Given the description of an element on the screen output the (x, y) to click on. 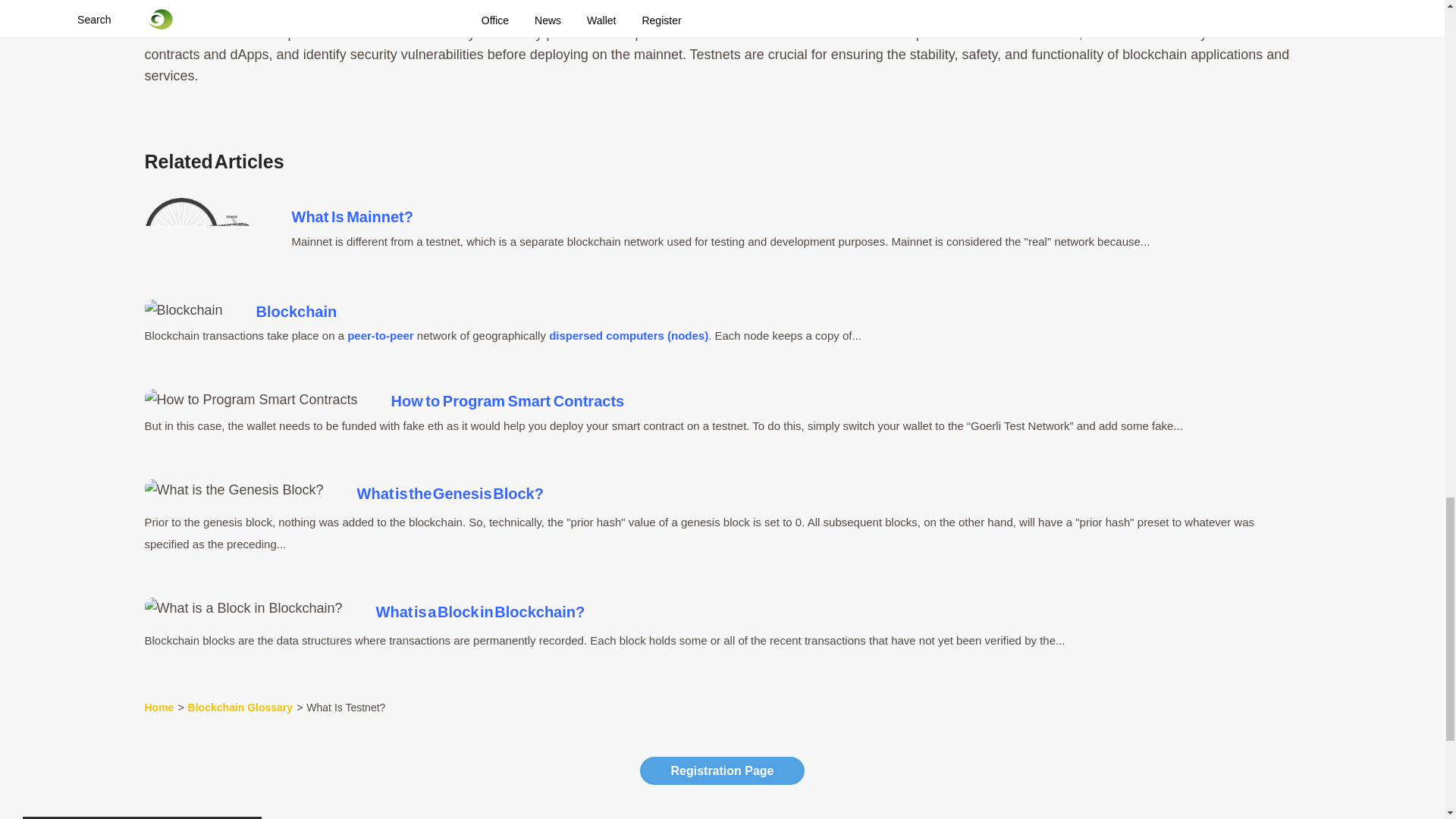
What is the Genesis Block? (233, 489)
What is a Block in Blockchain? (243, 608)
How to Program Smart Contracts (250, 399)
What Is Mainnet? (200, 234)
Blockchain (183, 310)
